Given the description of an element on the screen output the (x, y) to click on. 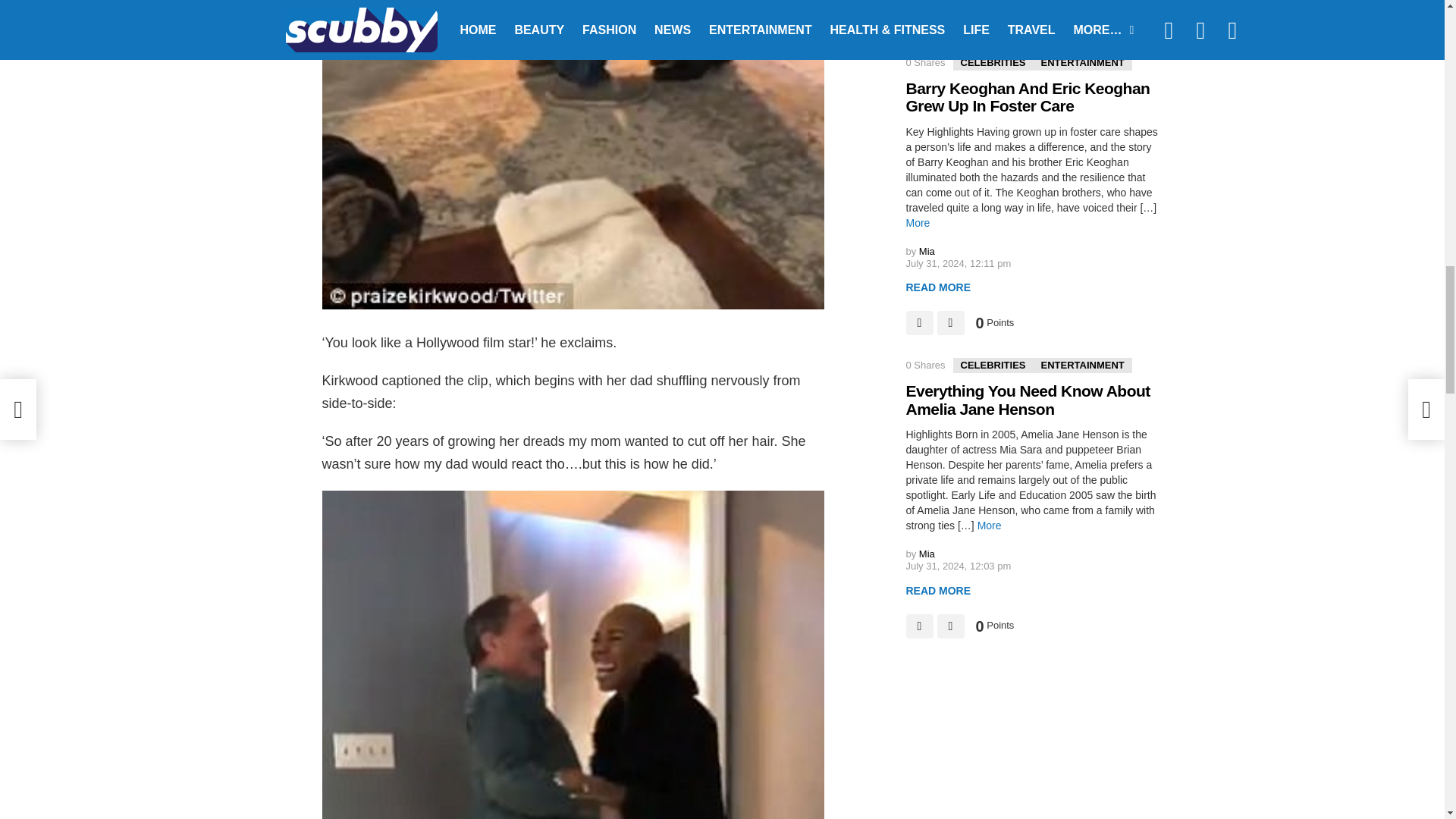
Upvote (919, 322)
Upvote (919, 20)
Downvote (950, 20)
Posts by Mia (926, 251)
